Given the description of an element on the screen output the (x, y) to click on. 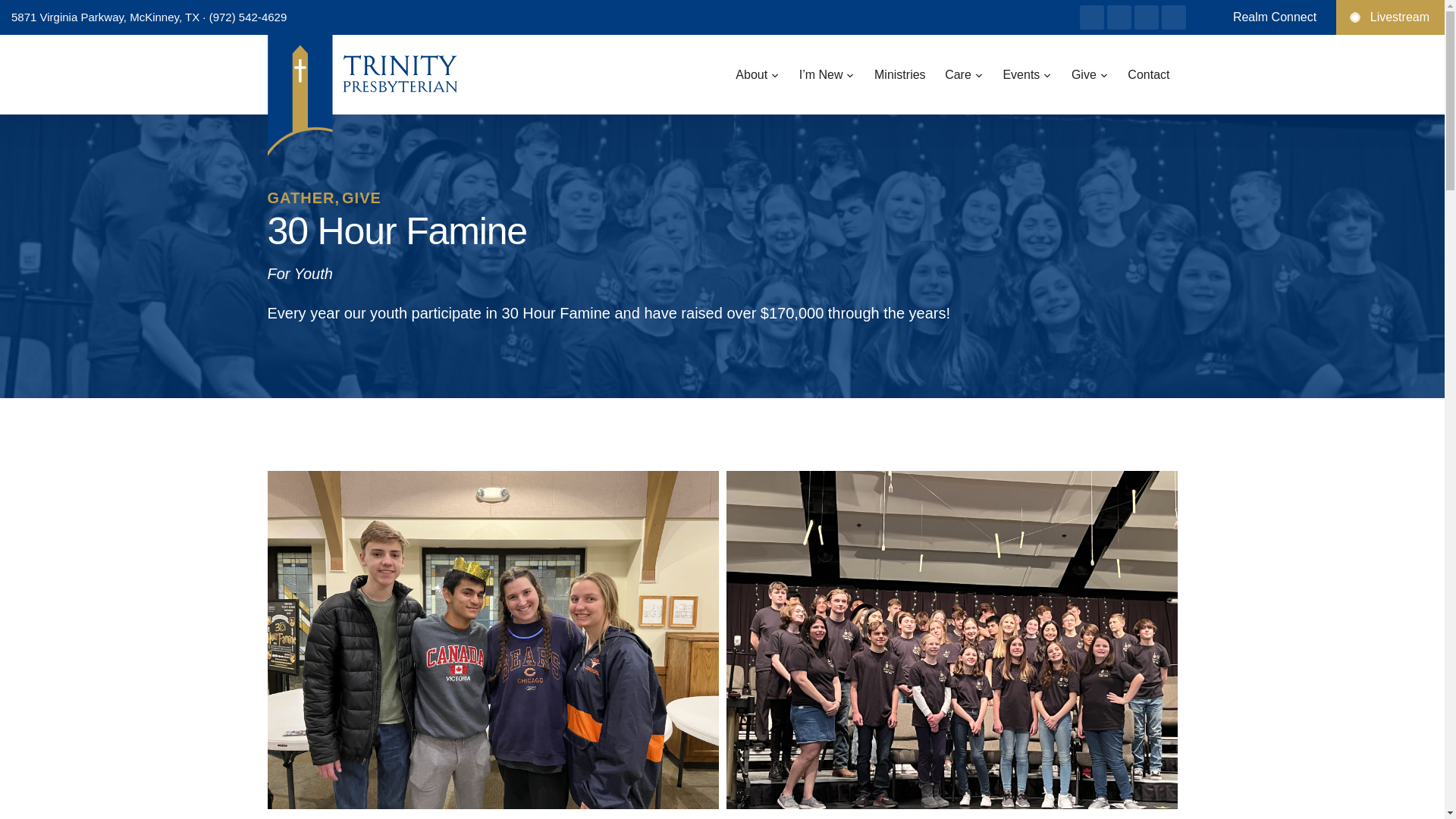
Care (964, 74)
Contact (1147, 74)
Trinity Presbyterian (312, 50)
GATHER (302, 197)
About (757, 74)
Events (1026, 74)
Realm Connect (1274, 17)
Ministries (899, 74)
Livestream (1390, 17)
